Given the description of an element on the screen output the (x, y) to click on. 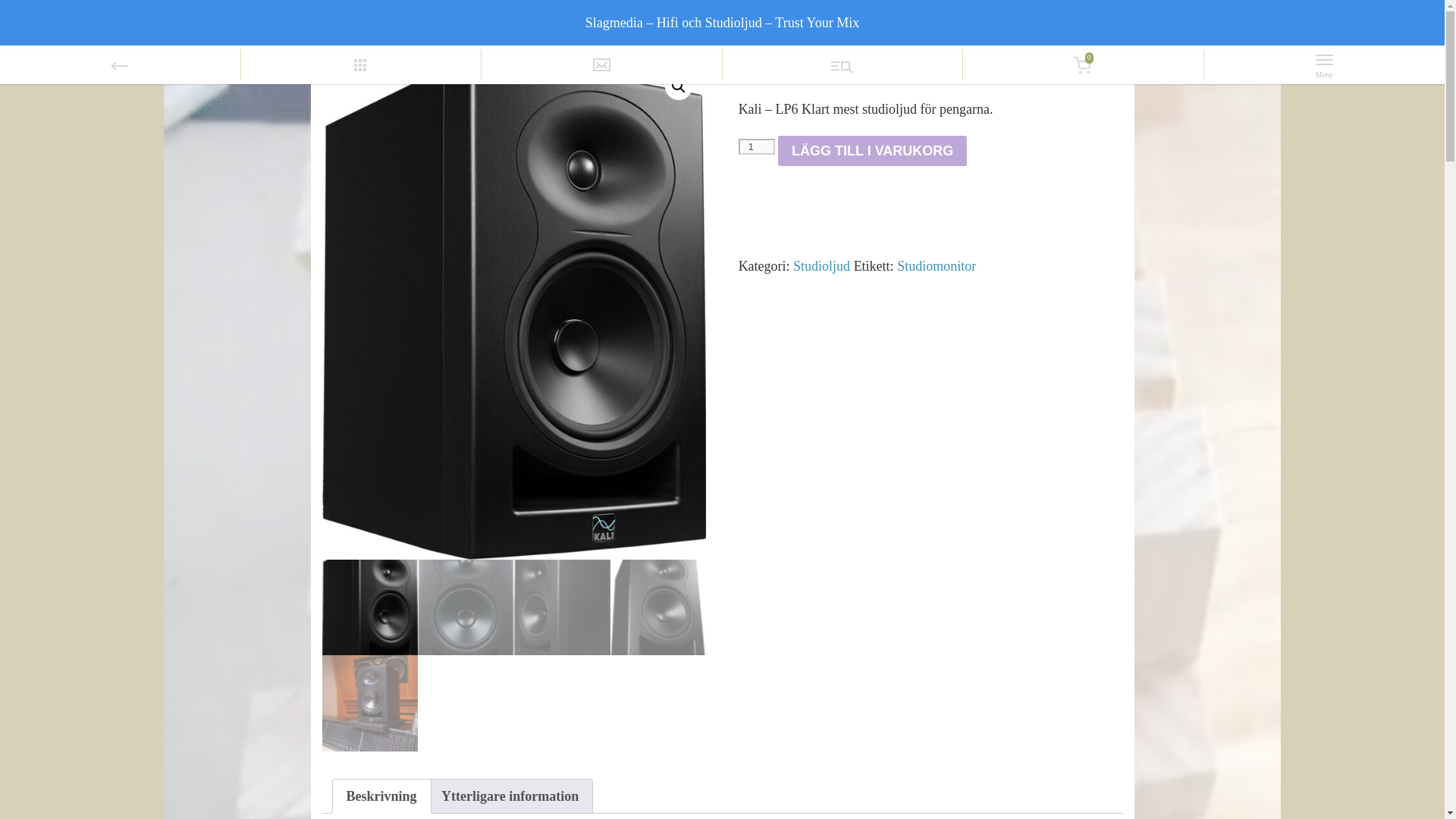
Studiomonitor (935, 265)
0 (1083, 66)
Permalink to Kali LP6 V2 (359, 44)
1 (756, 146)
Studioljud (821, 265)
KALI LP6 V2 (359, 44)
PayPal (930, 224)
Beskrivning (381, 796)
View your shopping cart (1083, 66)
Ytterligare information (509, 796)
